Given the description of an element on the screen output the (x, y) to click on. 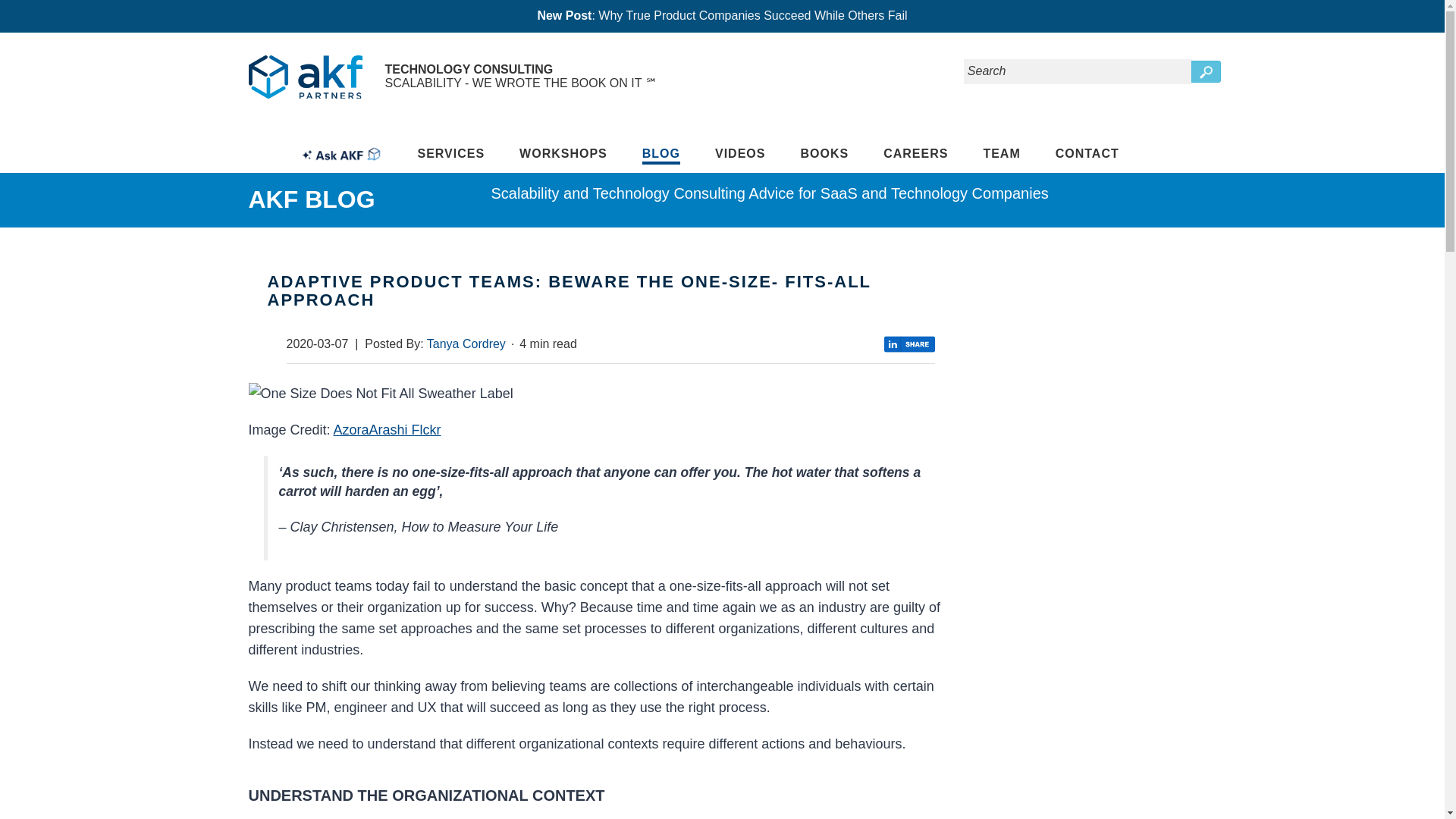
Tanya Cordrey (465, 343)
BOOKS (823, 153)
Why True Product Companies Succeed While Others Fail (752, 15)
WORKSHOPS (563, 153)
CAREERS (915, 153)
CONTACT (1087, 153)
BLOG (660, 155)
VIDEOS (739, 153)
TEAM (1001, 153)
SERVICES (450, 153)
